Given the description of an element on the screen output the (x, y) to click on. 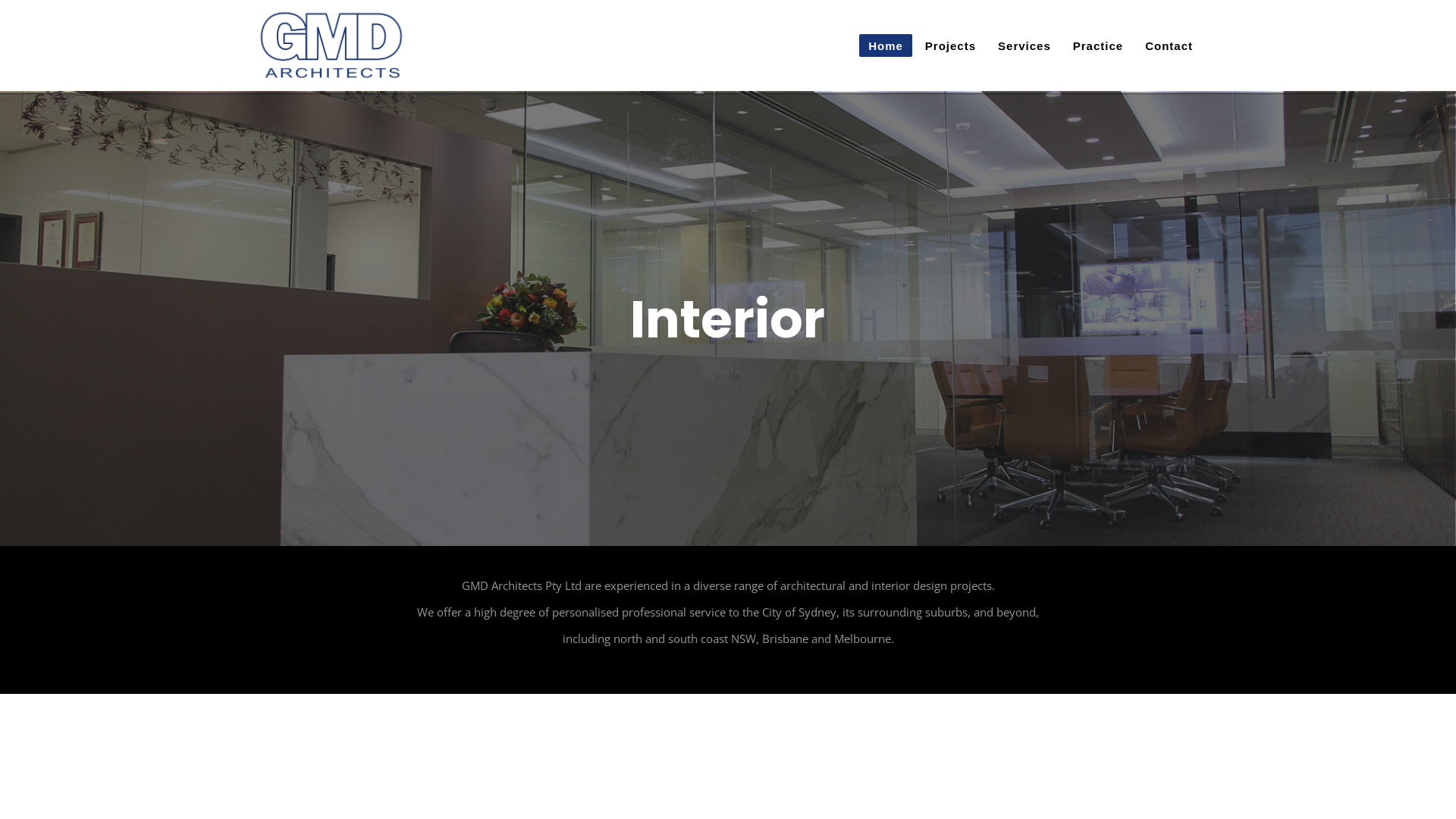
Home Element type: text (885, 44)
Contact Element type: text (1168, 44)
Practice Element type: text (1097, 44)
Services Element type: text (1024, 44)
Projects Element type: text (950, 44)
Sydney Architect Element type: hover (332, 45)
